Given the description of an element on the screen output the (x, y) to click on. 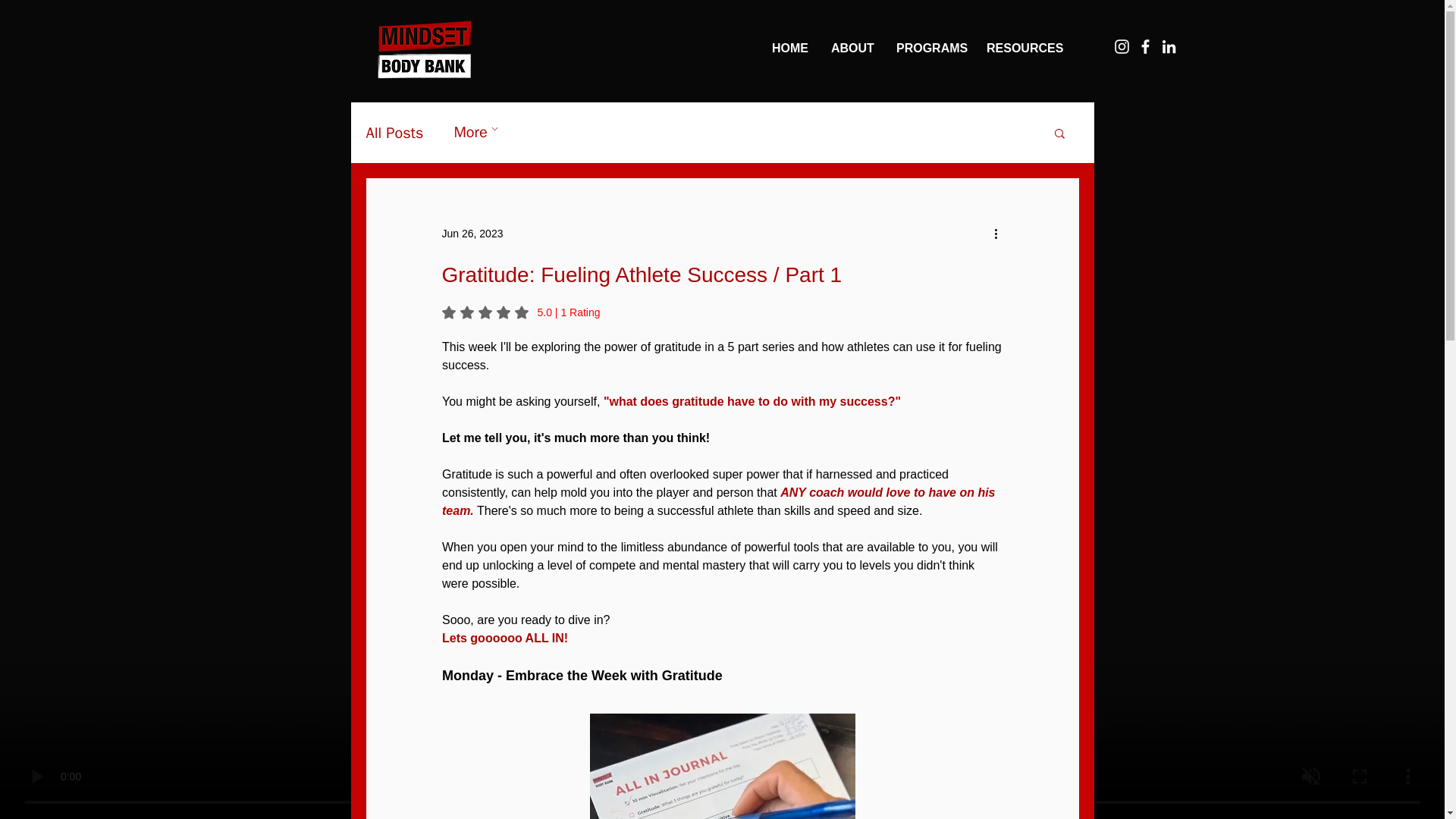
All Posts (394, 132)
HOME (789, 48)
Jun 26, 2023 (471, 233)
ABOUT (852, 48)
PROGRAMS (930, 48)
